Given the description of an element on the screen output the (x, y) to click on. 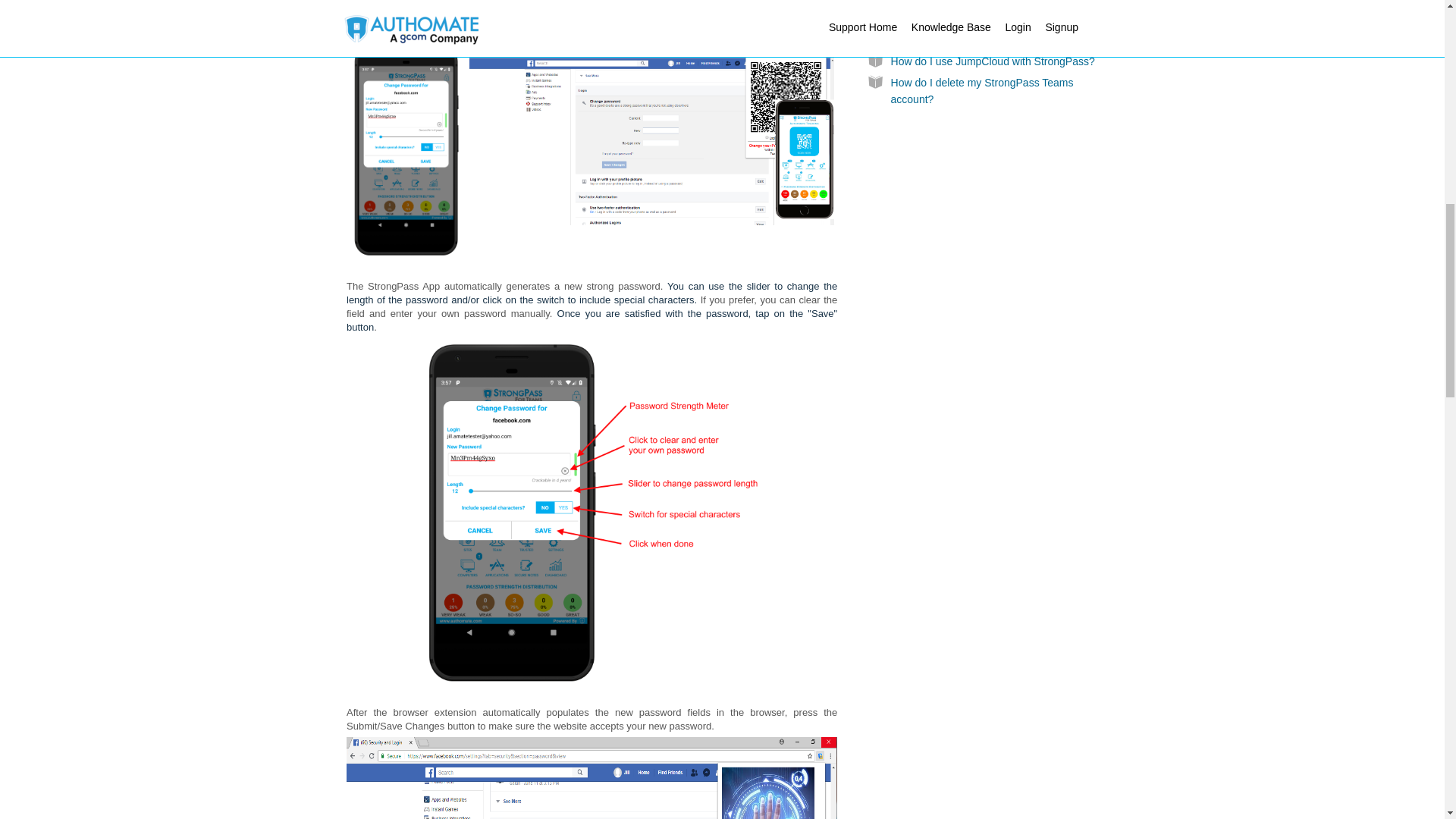
How do I unlock my Mac with StrongPass Mac Logon? (988, 4)
How do I use JumpCloud with StrongPass? (992, 61)
How do I change my Mac password with StrongPass? (986, 32)
How do I delete my StrongPass Teams account? (982, 90)
